Given the description of an element on the screen output the (x, y) to click on. 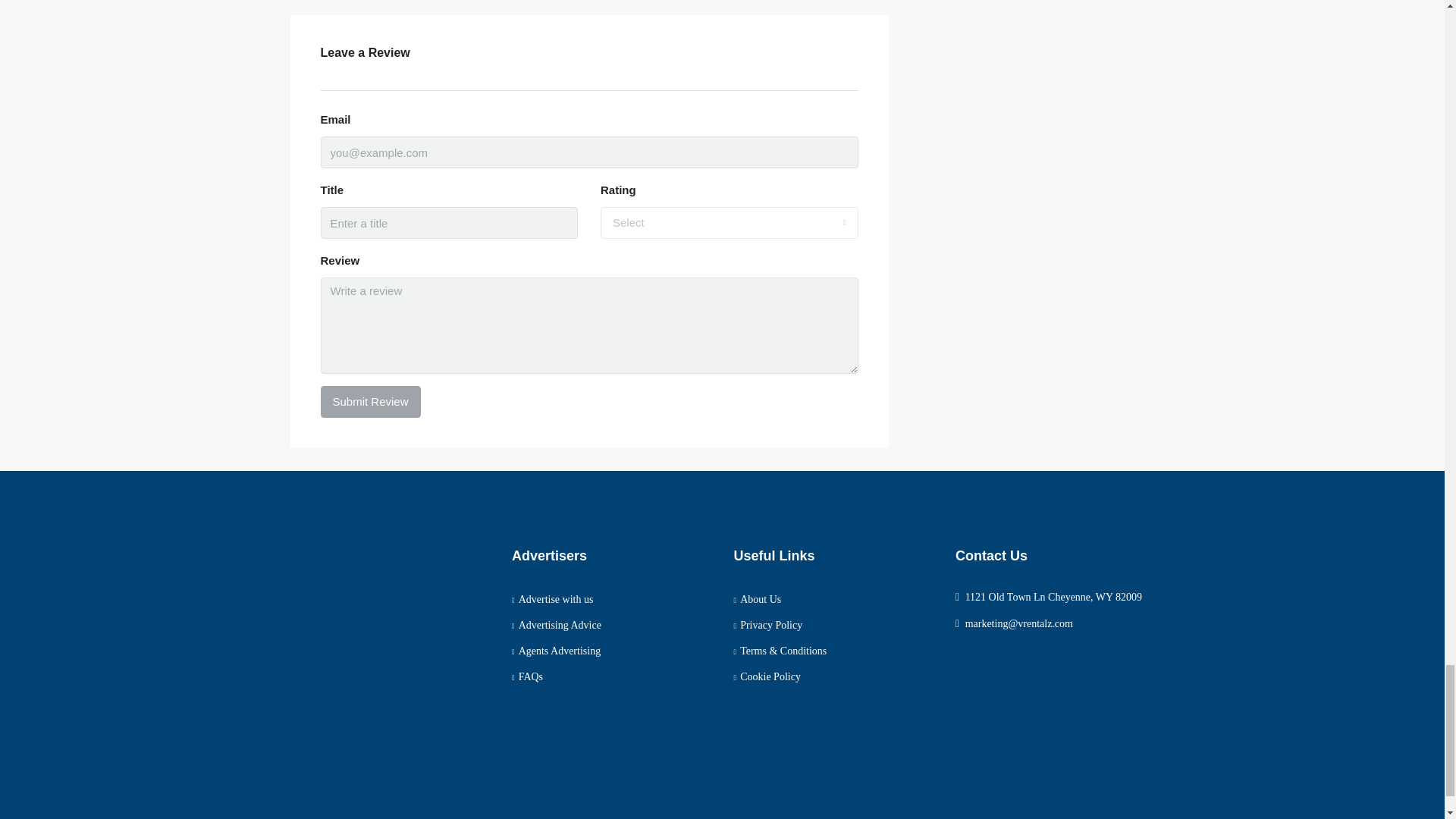
Select (729, 223)
